Given the description of an element on the screen output the (x, y) to click on. 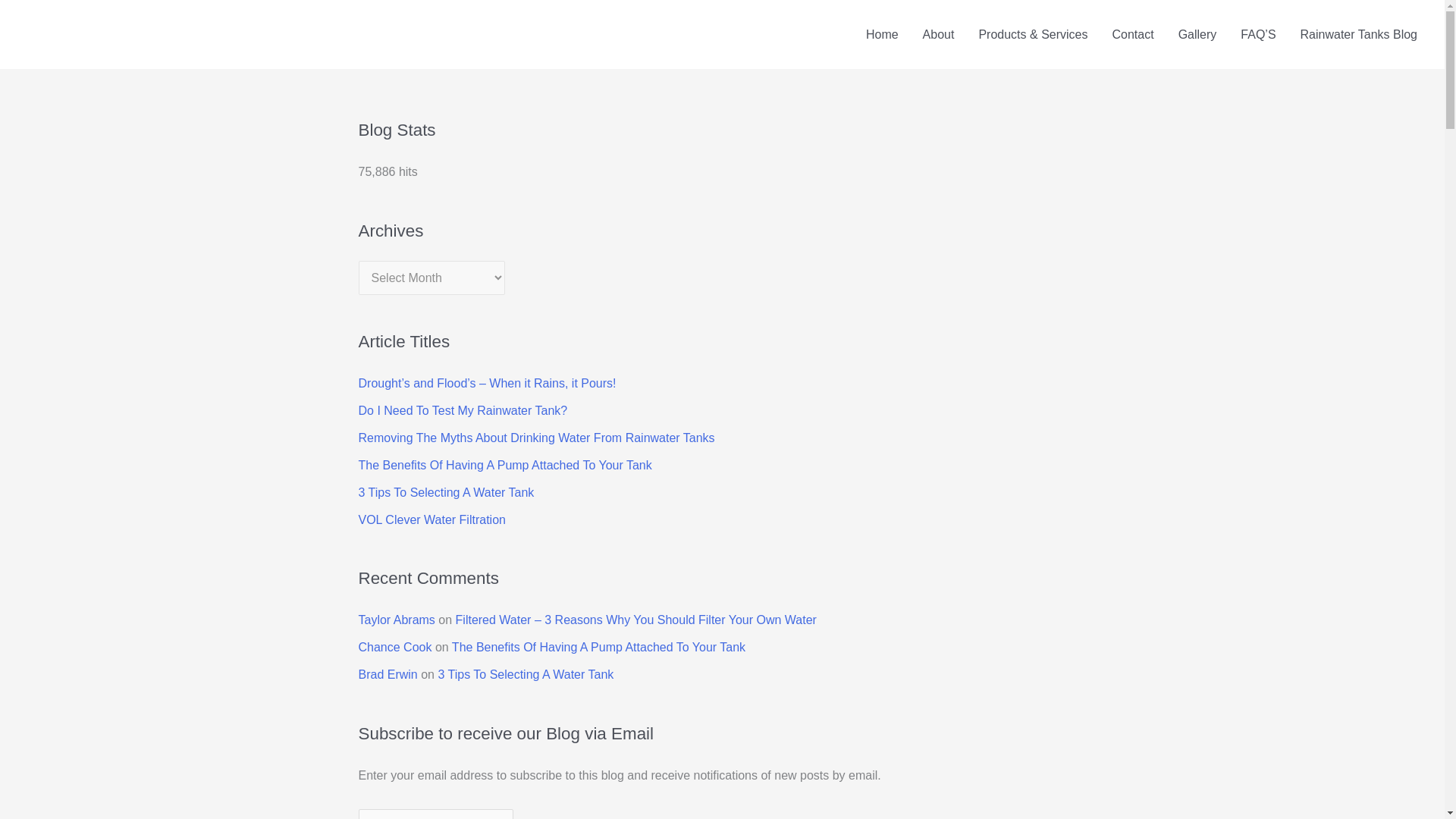
3 Tips To Selecting A Water Tank (525, 674)
Chance Cook (394, 646)
Home (882, 34)
Rainwater Tanks Blog (1358, 34)
Do I Need To Test My Rainwater Tank? (462, 410)
Contact (1132, 34)
The Benefits Of Having A Pump Attached To Your Tank (504, 464)
VOL Clever Water Filtration (431, 519)
Removing The Myths About Drinking Water From Rainwater Tanks (536, 437)
The Benefits Of Having A Pump Attached To Your Tank (598, 646)
Taylor Abrams (395, 619)
Brad Erwin (387, 674)
About (938, 34)
3 Tips To Selecting A Water Tank (446, 492)
Gallery (1197, 34)
